Given the description of an element on the screen output the (x, y) to click on. 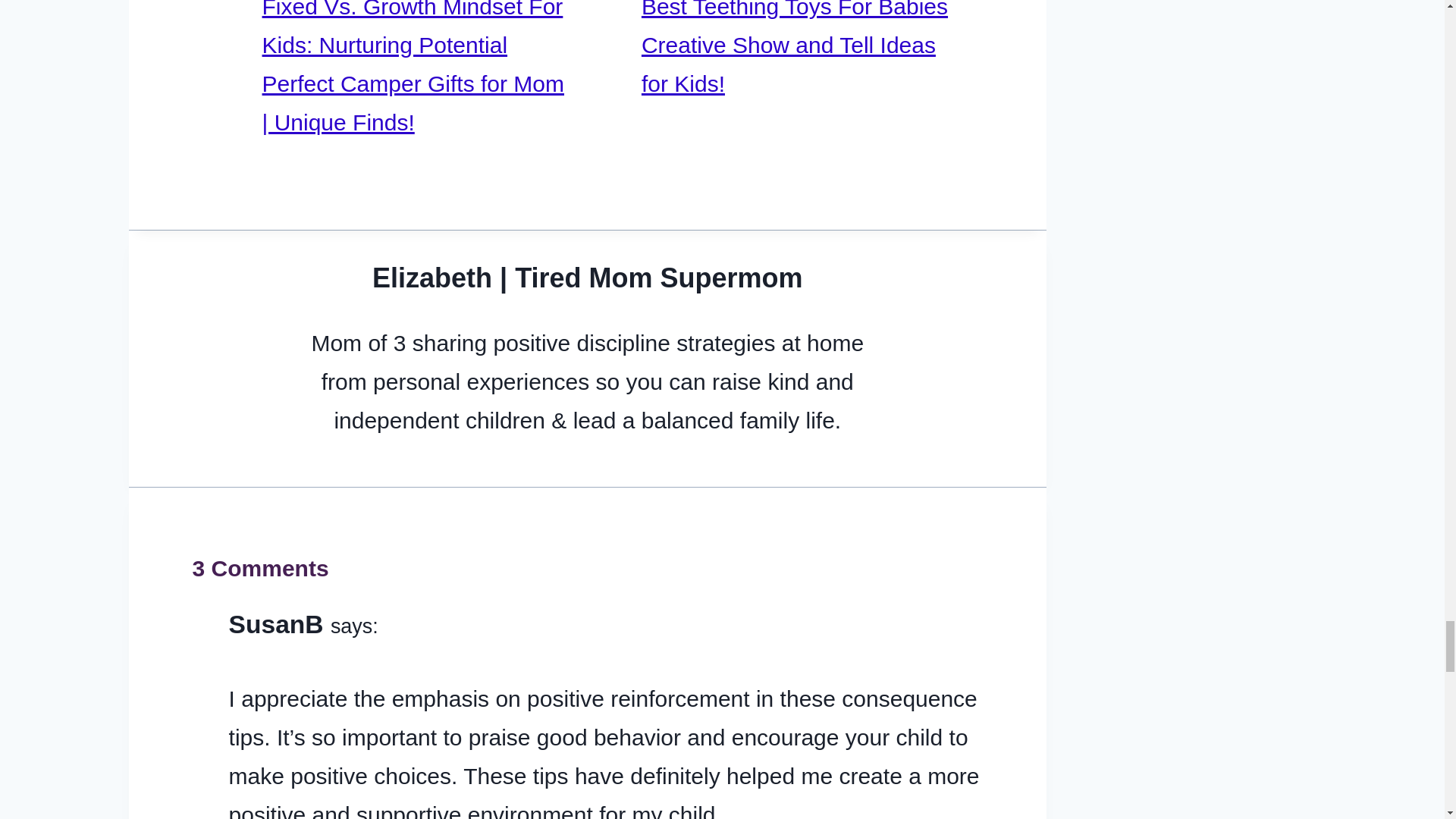
Creative Show and Tell Ideas for Kids! (789, 64)
Fixed Vs. Growth Mindset For Kids: Nurturing Potential (412, 28)
Best Teething Toys For Babies (794, 9)
